Given the description of an element on the screen output the (x, y) to click on. 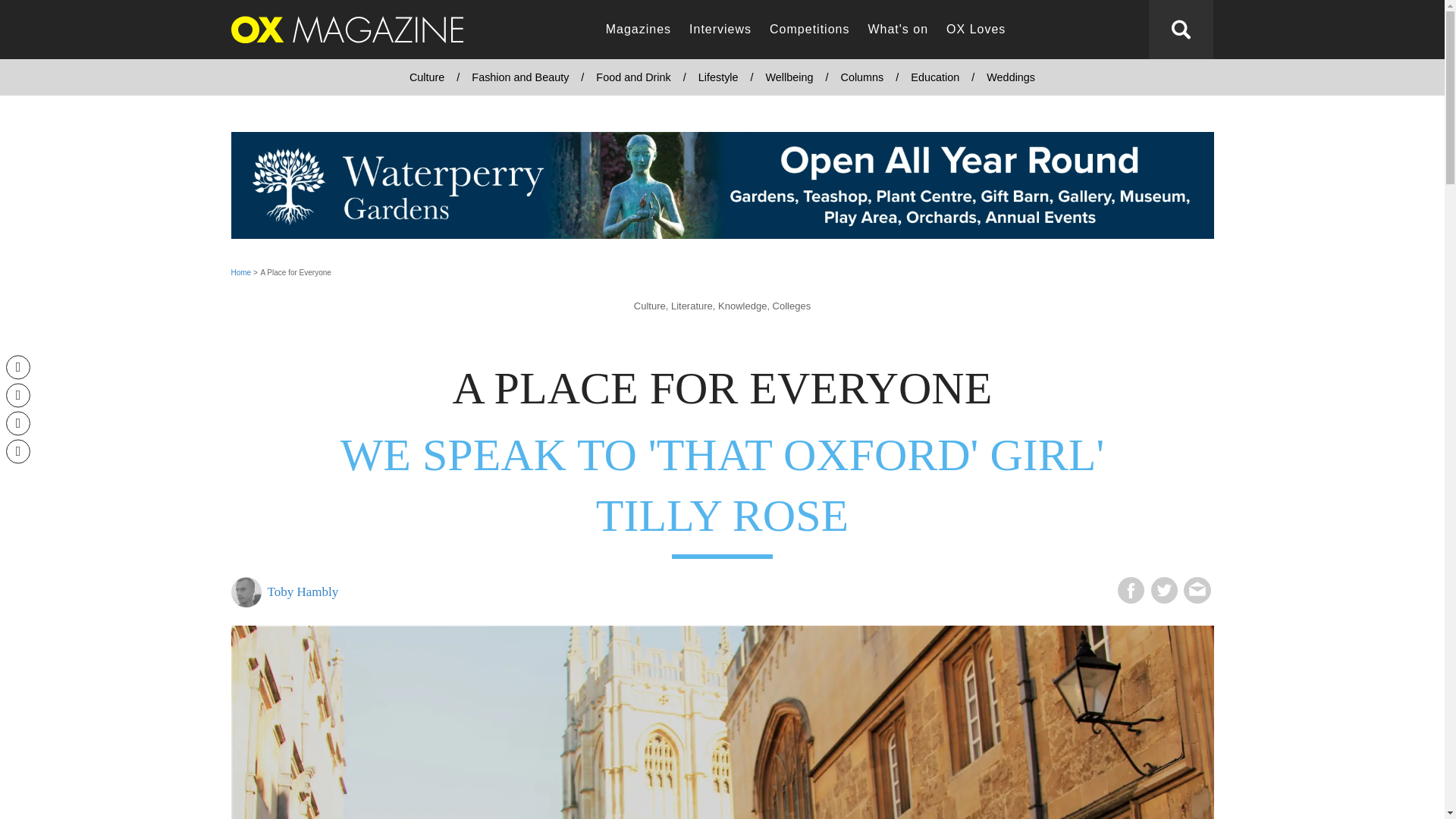
Toby Hambly (471, 592)
Culture (427, 77)
Magazines (637, 29)
Columns (861, 77)
Weddings (1010, 77)
Lifestyle (718, 77)
Interviews (719, 29)
Wellbeing (789, 77)
Education (934, 77)
What's on (898, 29)
Competitions (809, 29)
Food and Drink (632, 77)
Fashion and Beauty (520, 77)
OX Loves (975, 29)
Home (240, 272)
